Given the description of an element on the screen output the (x, y) to click on. 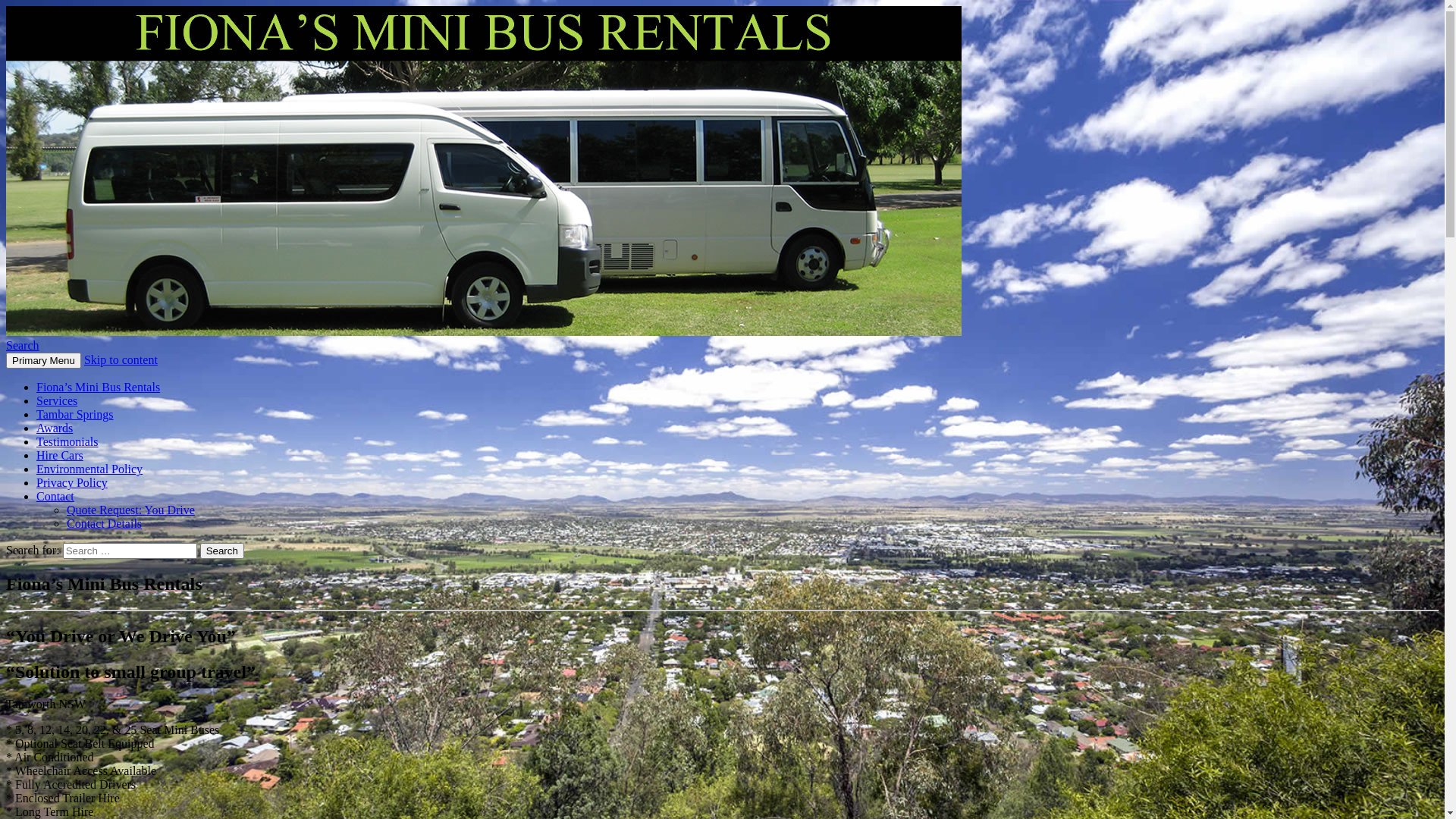
Hire Cars Element type: text (59, 454)
Privacy Policy Element type: text (71, 482)
Contact Details Element type: text (103, 523)
Skip to content Element type: text (120, 359)
Contact Element type: text (55, 495)
Testimonials Element type: text (67, 441)
Search Element type: text (22, 344)
Search Element type: text (222, 550)
Services Element type: text (56, 400)
Awards Element type: text (54, 427)
Primary Menu Element type: text (43, 360)
Environmental Policy Element type: text (89, 468)
Tambar Springs Element type: text (74, 413)
Quote Request: You Drive Element type: text (130, 509)
Fiona's Mini Buses Element type: text (104, 368)
